Given the description of an element on the screen output the (x, y) to click on. 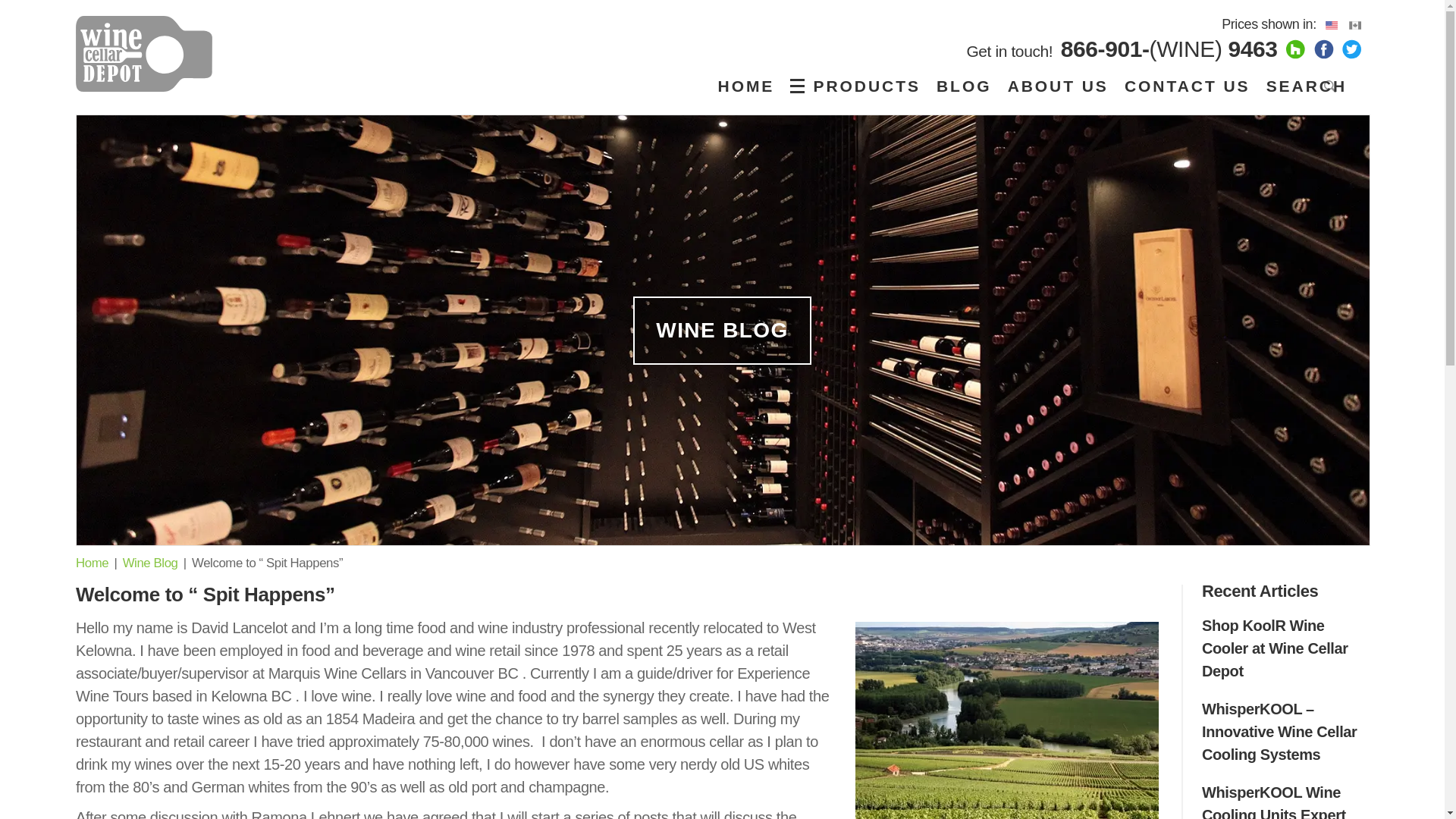
Shop KoolR Wine Cooler at Wine Cellar Depot (1275, 648)
Wine Blog (149, 563)
Home (91, 563)
SEARCH (1311, 85)
WhisperKOOL Wine Cooling Units Expert Guide (1273, 801)
WhisperKOOL Wine Cooling Units Expert Guide (1273, 801)
ABOUT US (1058, 85)
BLOG (963, 85)
CONTACT US (1187, 85)
PRODUCTS (858, 85)
